Given the description of an element on the screen output the (x, y) to click on. 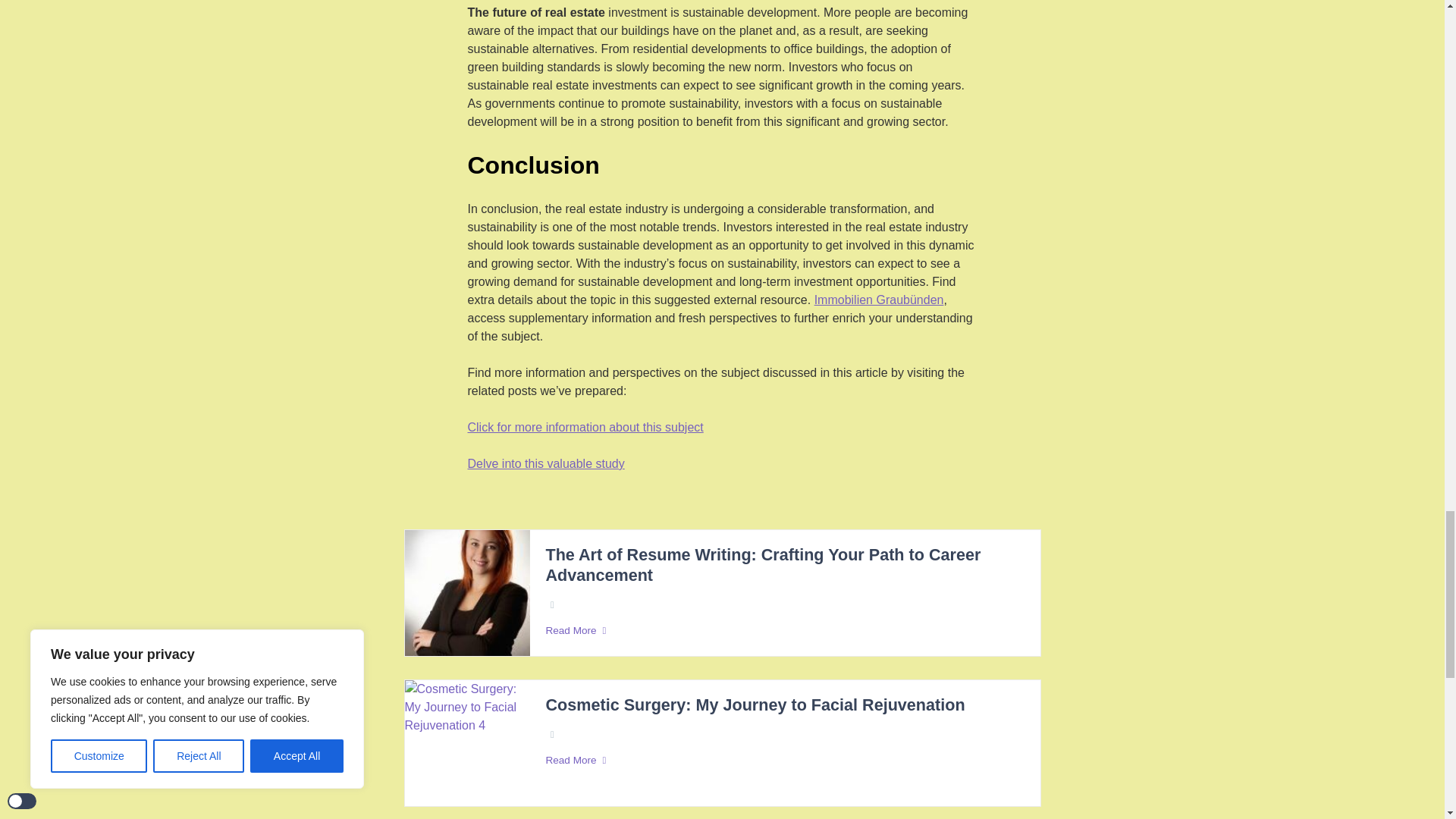
Read More (784, 630)
Click for more information about this subject (585, 427)
Read More (784, 760)
Cosmetic Surgery: My Journey to Facial Rejuvenation (753, 705)
Delve into this valuable study (545, 464)
